Given the description of an element on the screen output the (x, y) to click on. 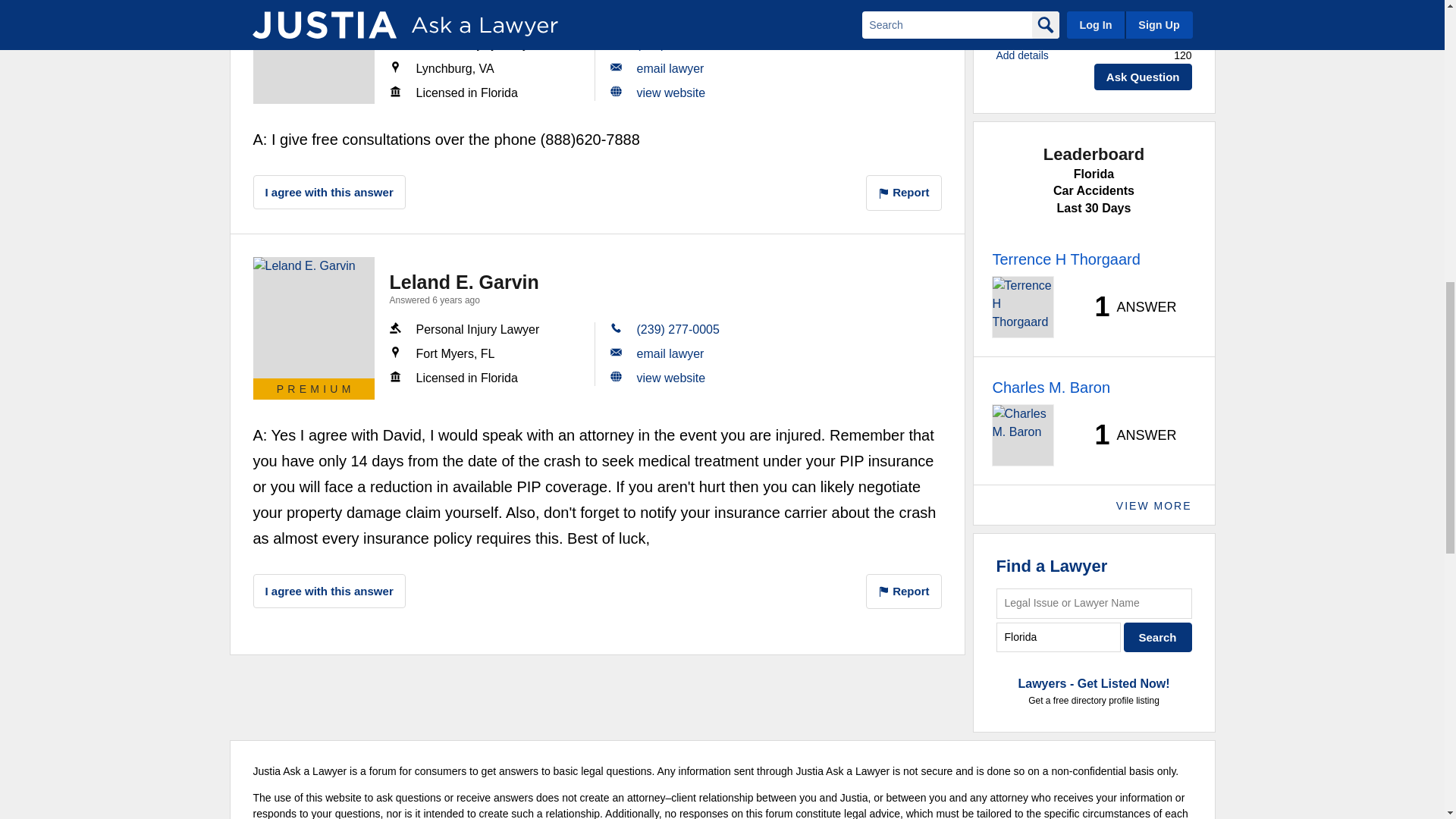
Florida (1058, 636)
Chris White (313, 52)
Search (1158, 636)
Search (1158, 636)
Ask a Lawyer - Leaderboard - Lawyer Name (1065, 259)
Leland E. Garvin (313, 317)
Ask a Lawyer - Leaderboard - Lawyer Stats (1127, 434)
Ask a Lawyer - Leaderboard - Lawyer Stats (1127, 307)
Ask a Lawyer - Leaderboard - Lawyer Photo (1021, 306)
Ask a Lawyer - Leaderboard - Lawyer Photo (1021, 435)
Ask a Lawyer - Leaderboard - Lawyer Name (1050, 386)
